Given the description of an element on the screen output the (x, y) to click on. 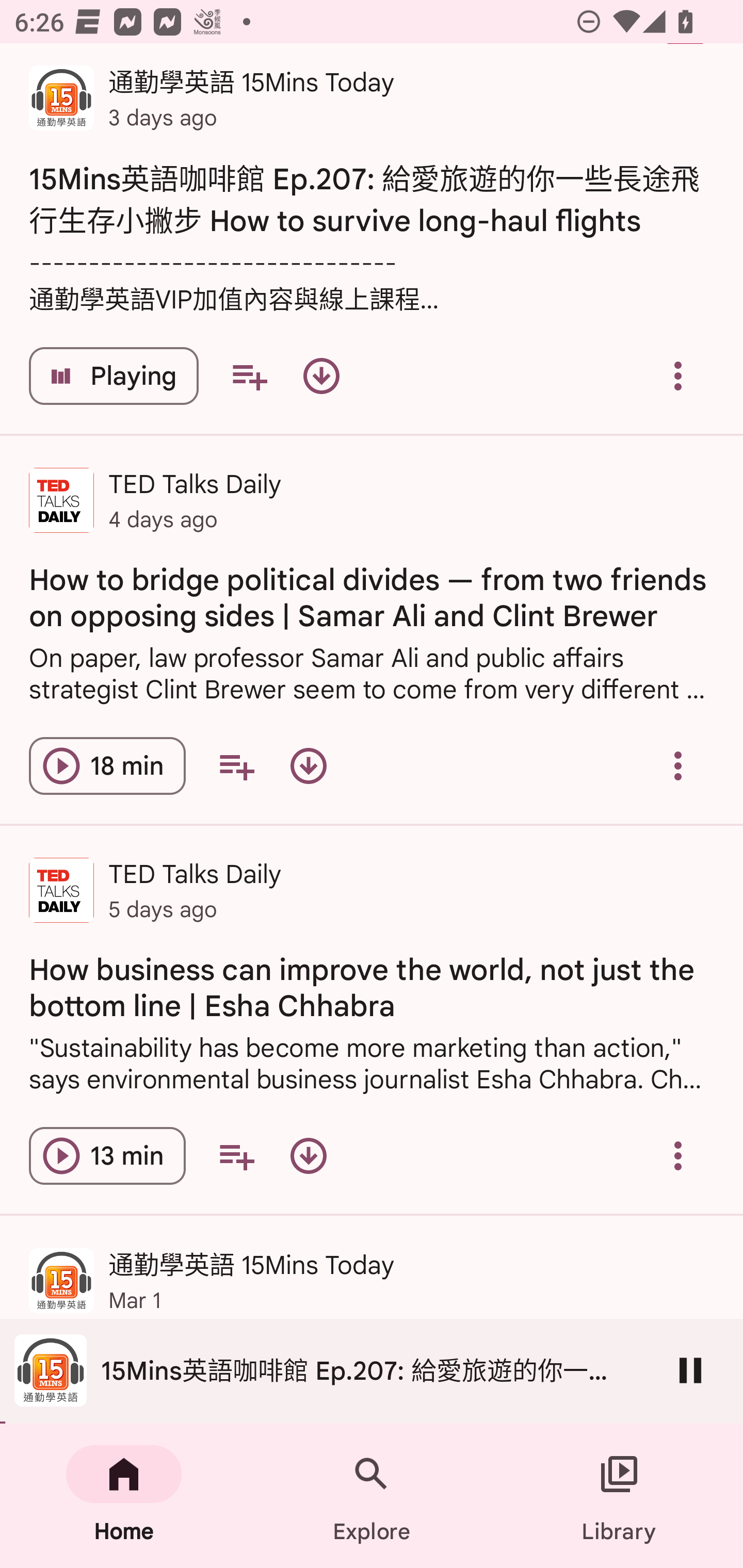
Add to your queue (249, 375)
Download episode (321, 375)
Overflow menu (677, 375)
Add to your queue (235, 765)
Download episode (308, 765)
Overflow menu (677, 765)
Add to your queue (235, 1156)
Download episode (308, 1156)
Overflow menu (677, 1156)
Pause (690, 1370)
Explore (371, 1495)
Library (619, 1495)
